Given the description of an element on the screen output the (x, y) to click on. 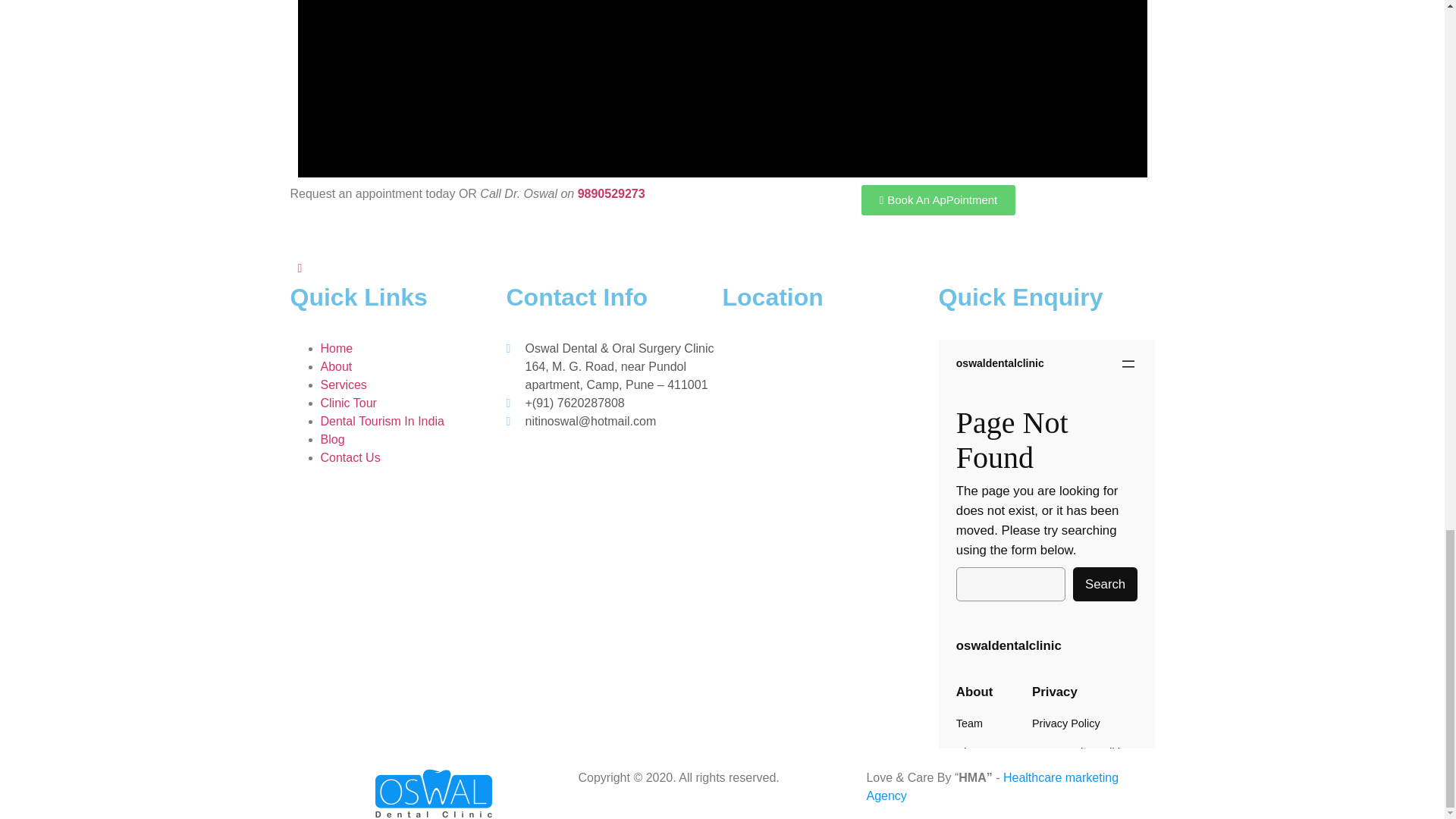
Oswal Dental Clinic Footer Form Enquiry (1046, 543)
